Given the description of an element on the screen output the (x, y) to click on. 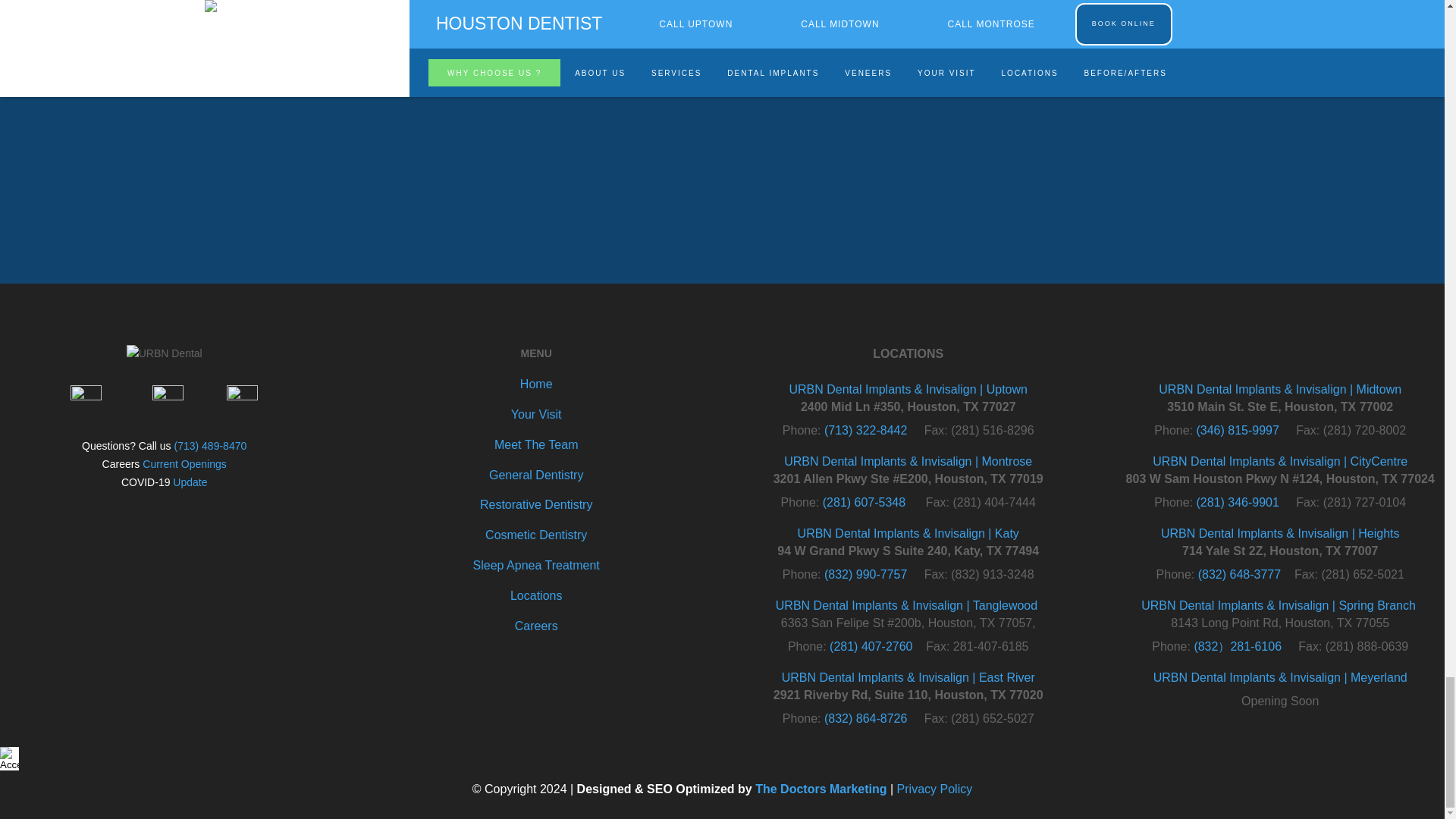
Restorative Dentistry (536, 504)
Meet The Team (536, 444)
Cosmetic Dentistry (535, 534)
General Dentistry (536, 474)
Home (536, 383)
Your Visit (536, 413)
